Given the description of an element on the screen output the (x, y) to click on. 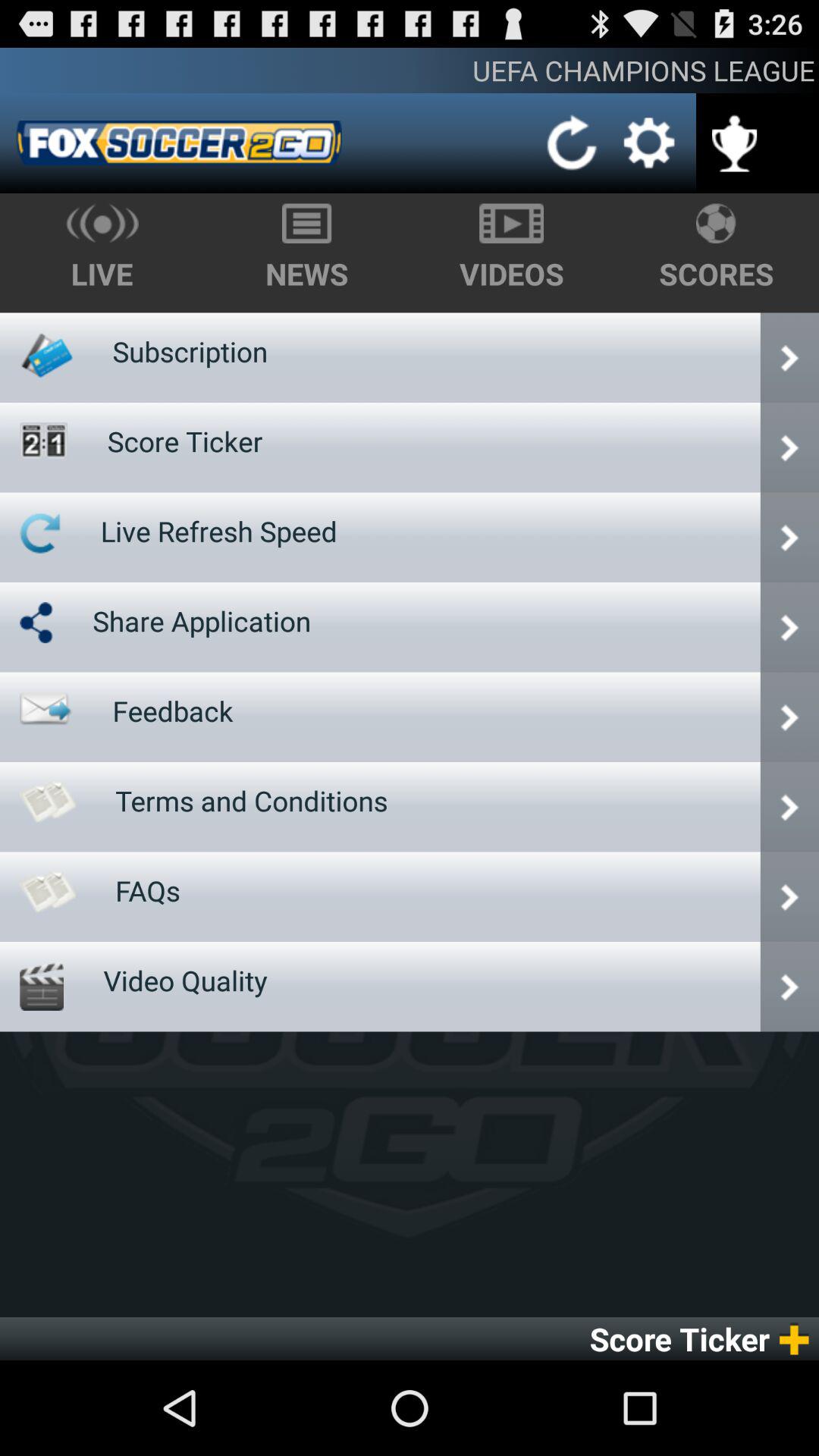
jump until live refresh speed app (218, 530)
